Given the description of an element on the screen output the (x, y) to click on. 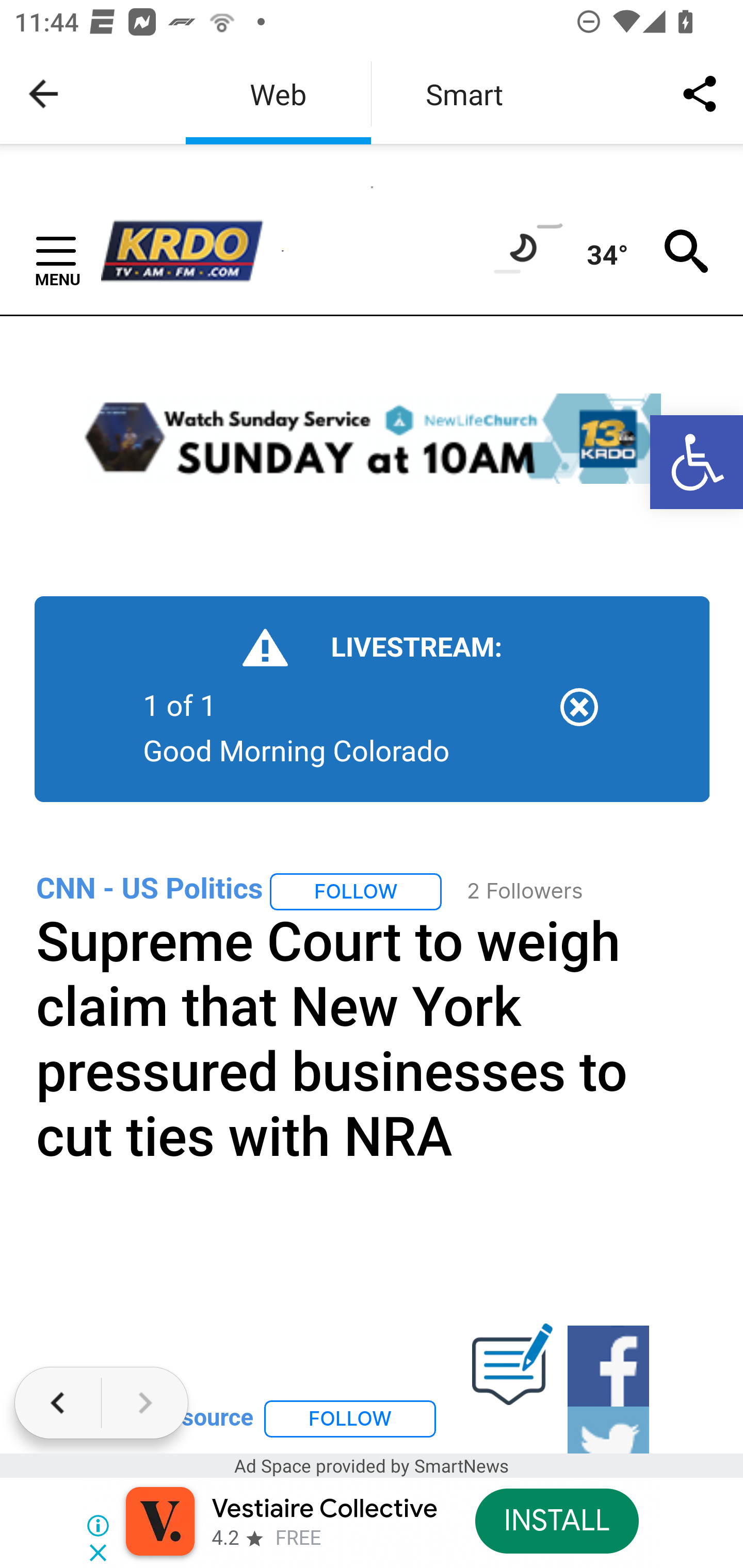
Web (277, 93)
Smart (464, 93)
KRDO  KRDO   (191, 250)
# search (686, 250)
CNN - US Politics (149, 888)
comment_icon (512, 1364)
Share on Facebook (608, 1366)
Share on Twitter (608, 1430)
INSTALL (556, 1520)
Vestiaire Collective (324, 1508)
